Given the description of an element on the screen output the (x, y) to click on. 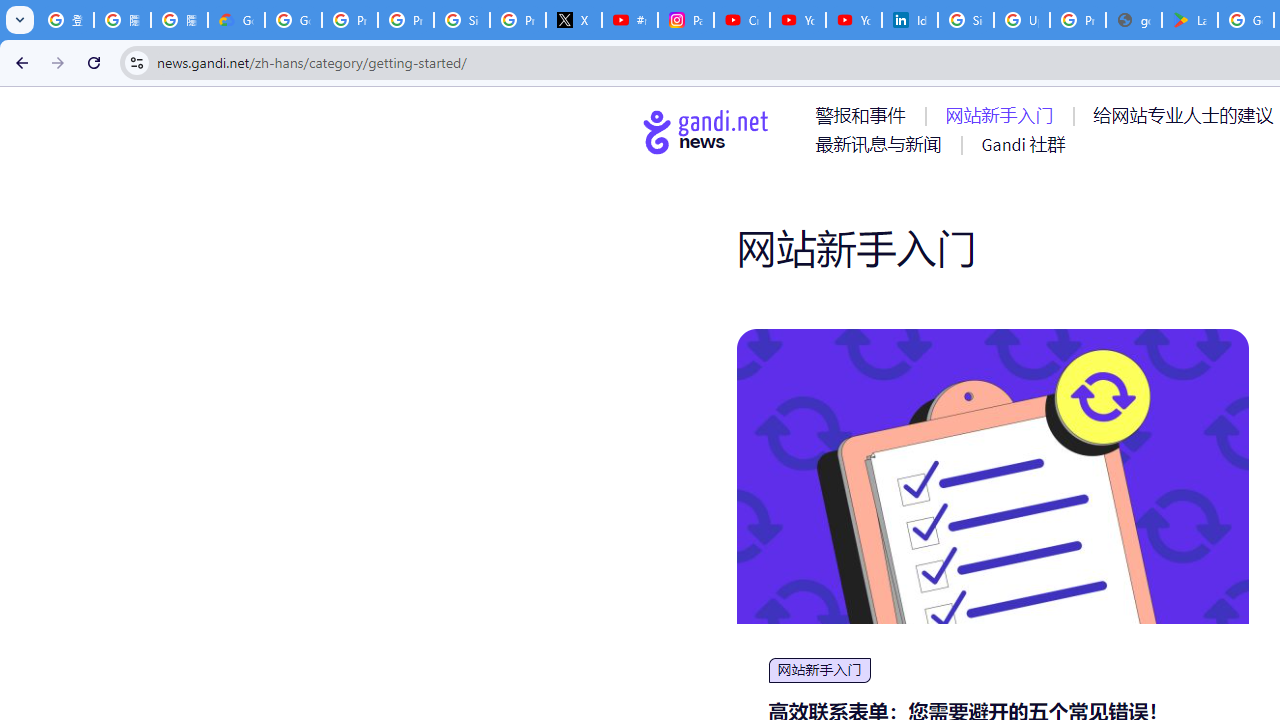
AutomationID: menu-item-77766 (882, 143)
Sign in - Google Accounts (461, 20)
#nbabasketballhighlights - YouTube (629, 20)
AutomationID: menu-item-77767 (1022, 143)
AutomationID: menu-item-77761 (863, 115)
